Given the description of an element on the screen output the (x, y) to click on. 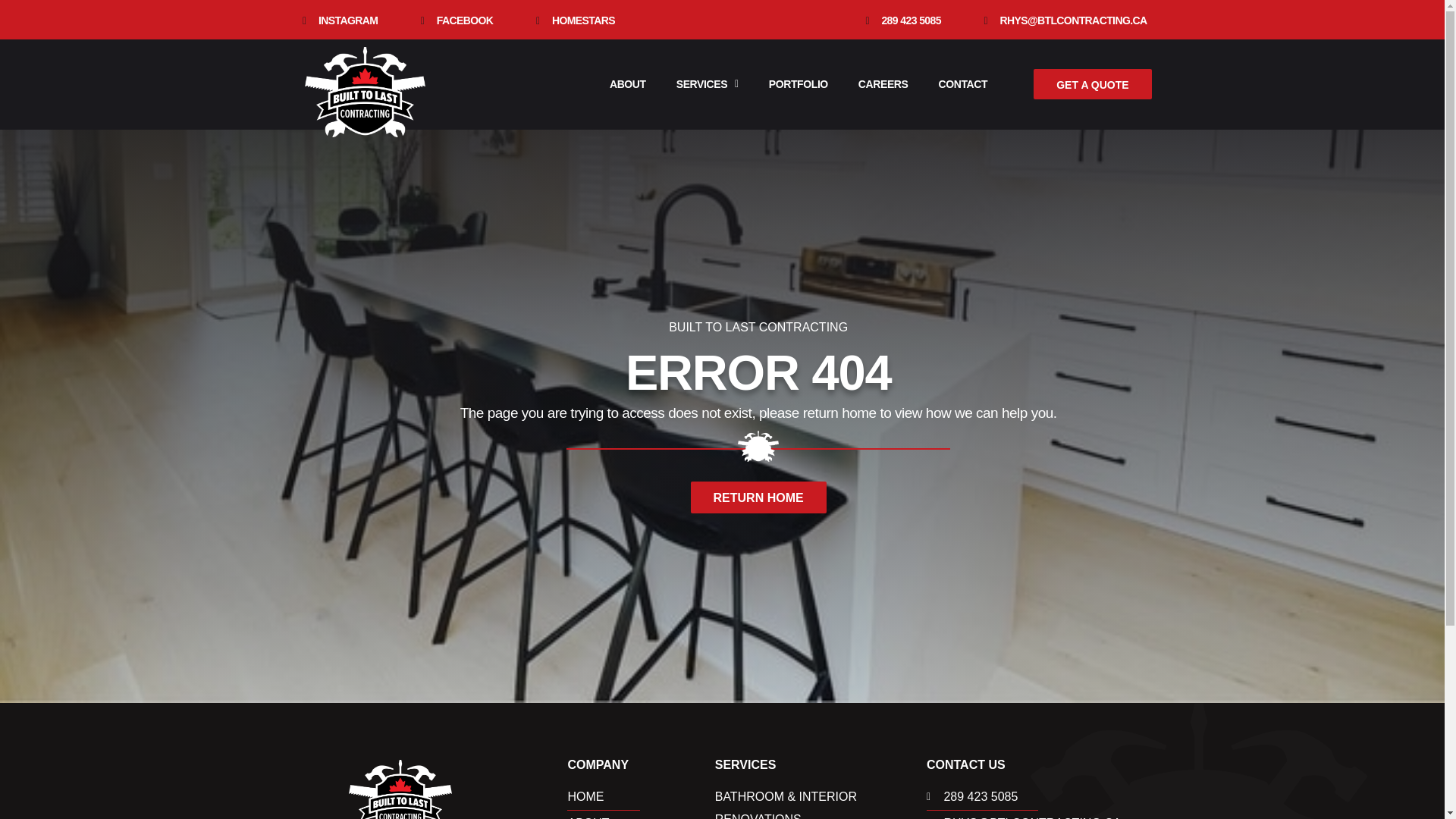
CAREERS (883, 83)
HOME (640, 796)
RETURN HOME (758, 497)
FACEBOOK (453, 21)
289 423 5085 (1040, 796)
ABOUT (640, 815)
SERVICES (707, 83)
ABOUT (627, 83)
289 423 5085 (900, 21)
GET A QUOTE (1092, 83)
CONTACT (963, 83)
HOMESTARS (572, 21)
PORTFOLIO (798, 83)
INSTAGRAM (337, 21)
